Given the description of an element on the screen output the (x, y) to click on. 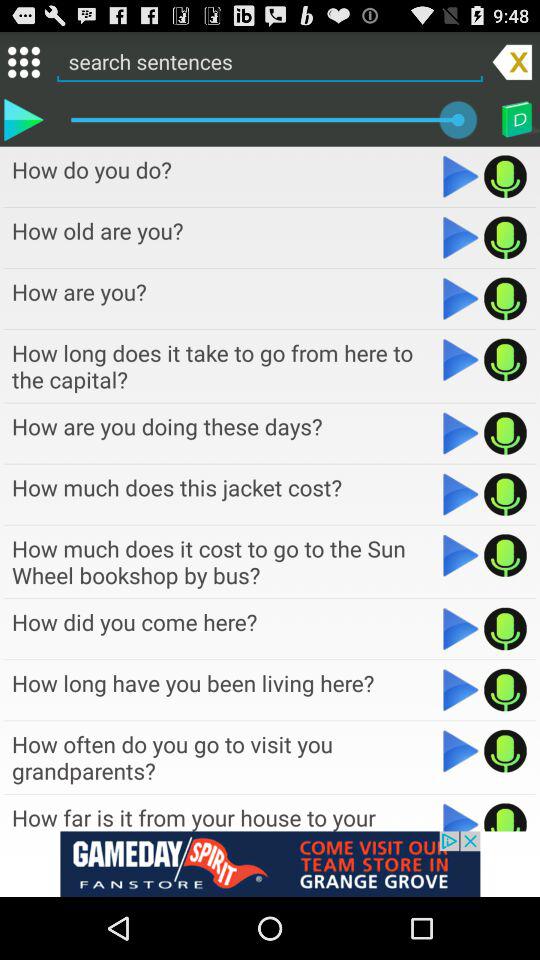
microphone (505, 237)
